Given the description of an element on the screen output the (x, y) to click on. 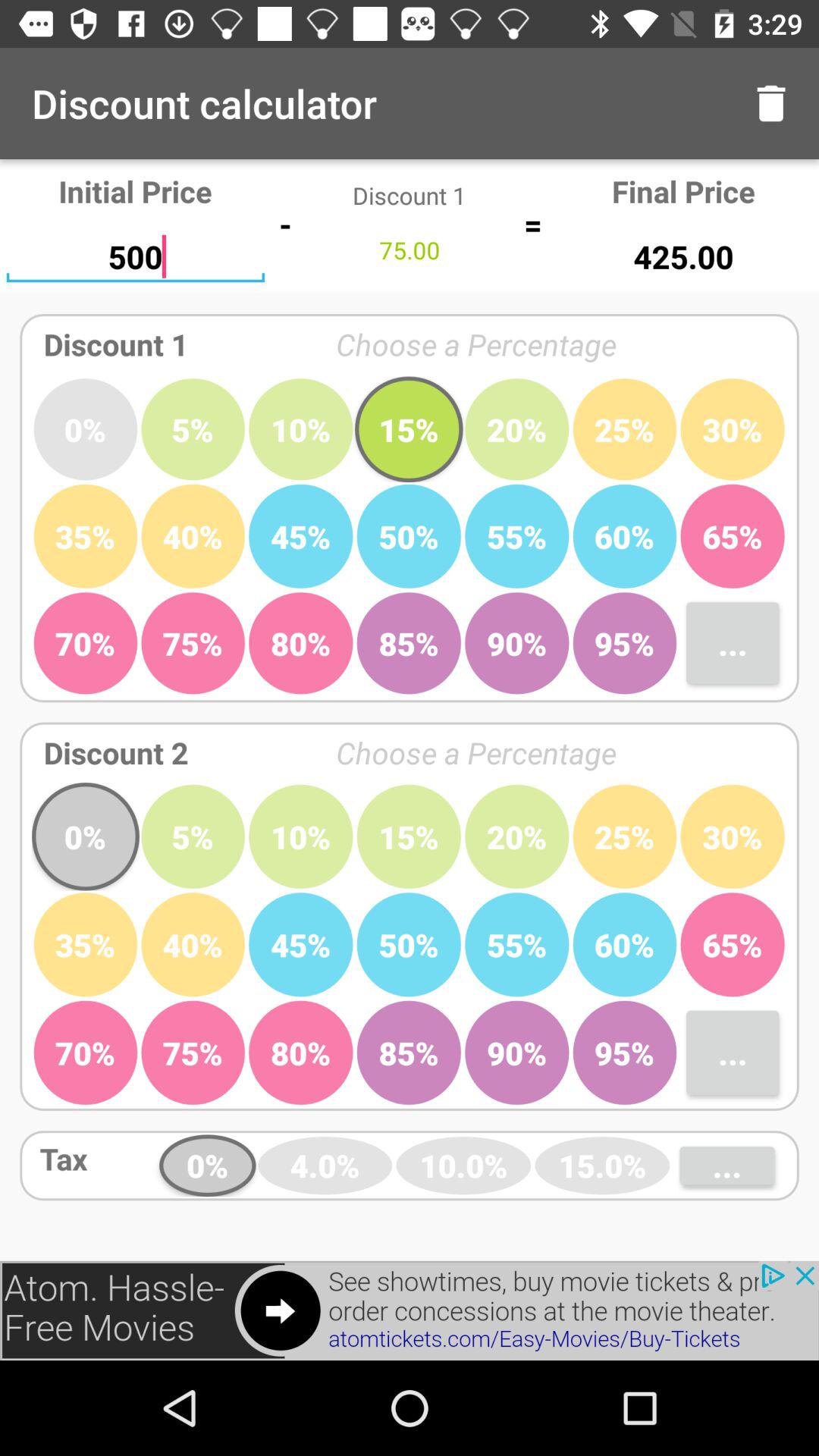
share the article (409, 1310)
